Given the description of an element on the screen output the (x, y) to click on. 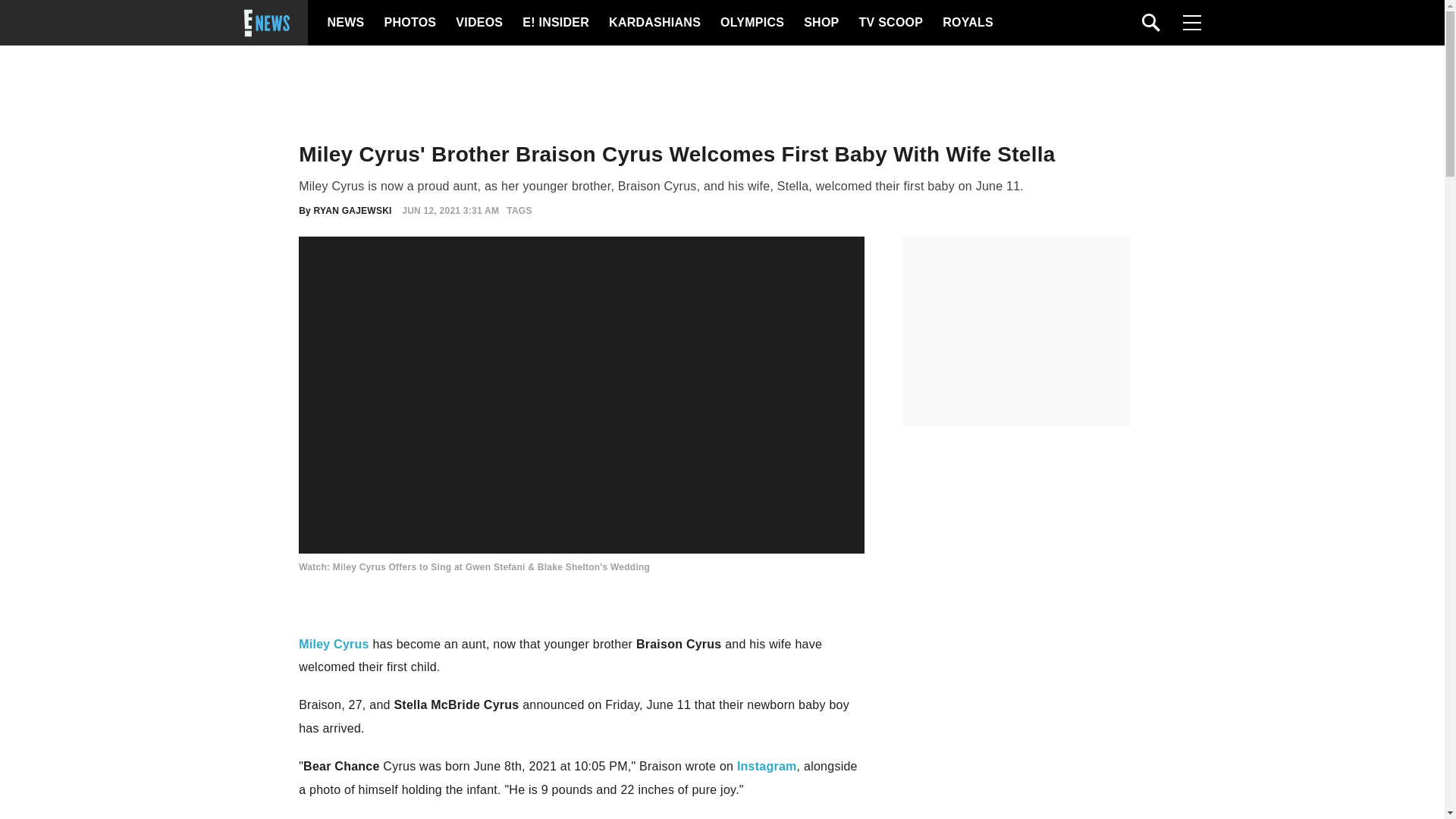
Miley Cyrus (333, 644)
ROYALS (966, 22)
Instagram (766, 766)
SHOP (820, 22)
VIDEOS (478, 22)
NEWS (345, 22)
KARDASHIANS (653, 22)
E! INSIDER (555, 22)
OLYMPICS (751, 22)
RYAN GAJEWSKI (352, 210)
PHOTOS (408, 22)
TV SCOOP (890, 22)
